Given the description of an element on the screen output the (x, y) to click on. 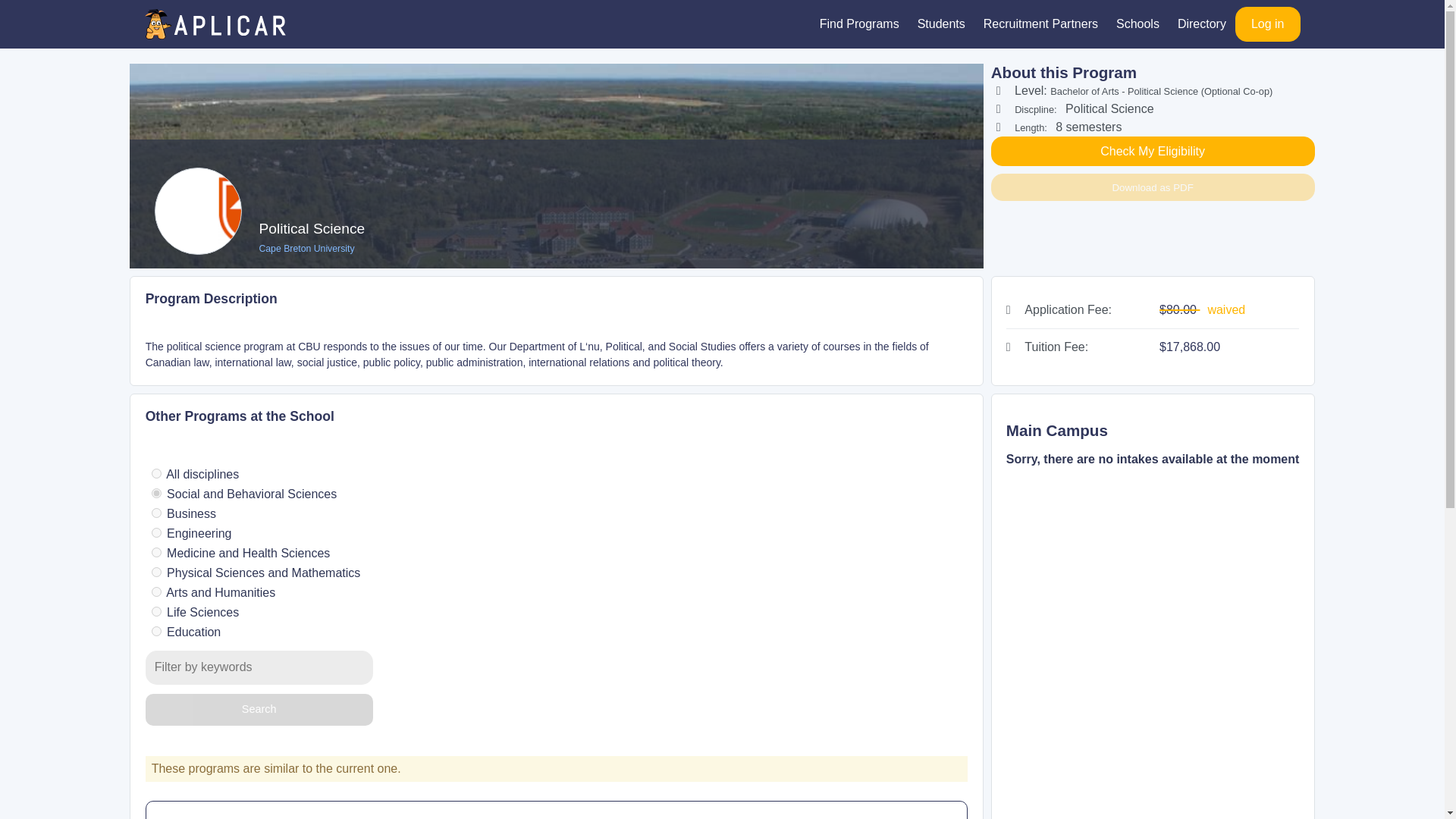
Check My Eligibility (1152, 151)
Environmental Studies (245, 817)
Students (941, 24)
Schools (1137, 24)
Find Programs (859, 24)
6d176c99-25e9-4c1b-87ec-9ff30994c7bd (156, 572)
39c0255d-356a-44be-bf1b-5888538be25f (156, 552)
Search (258, 709)
Cape Breton University (312, 248)
a4a62f74-0a27-46e5-b0d5-9ac93702191e (156, 631)
